Given the description of an element on the screen output the (x, y) to click on. 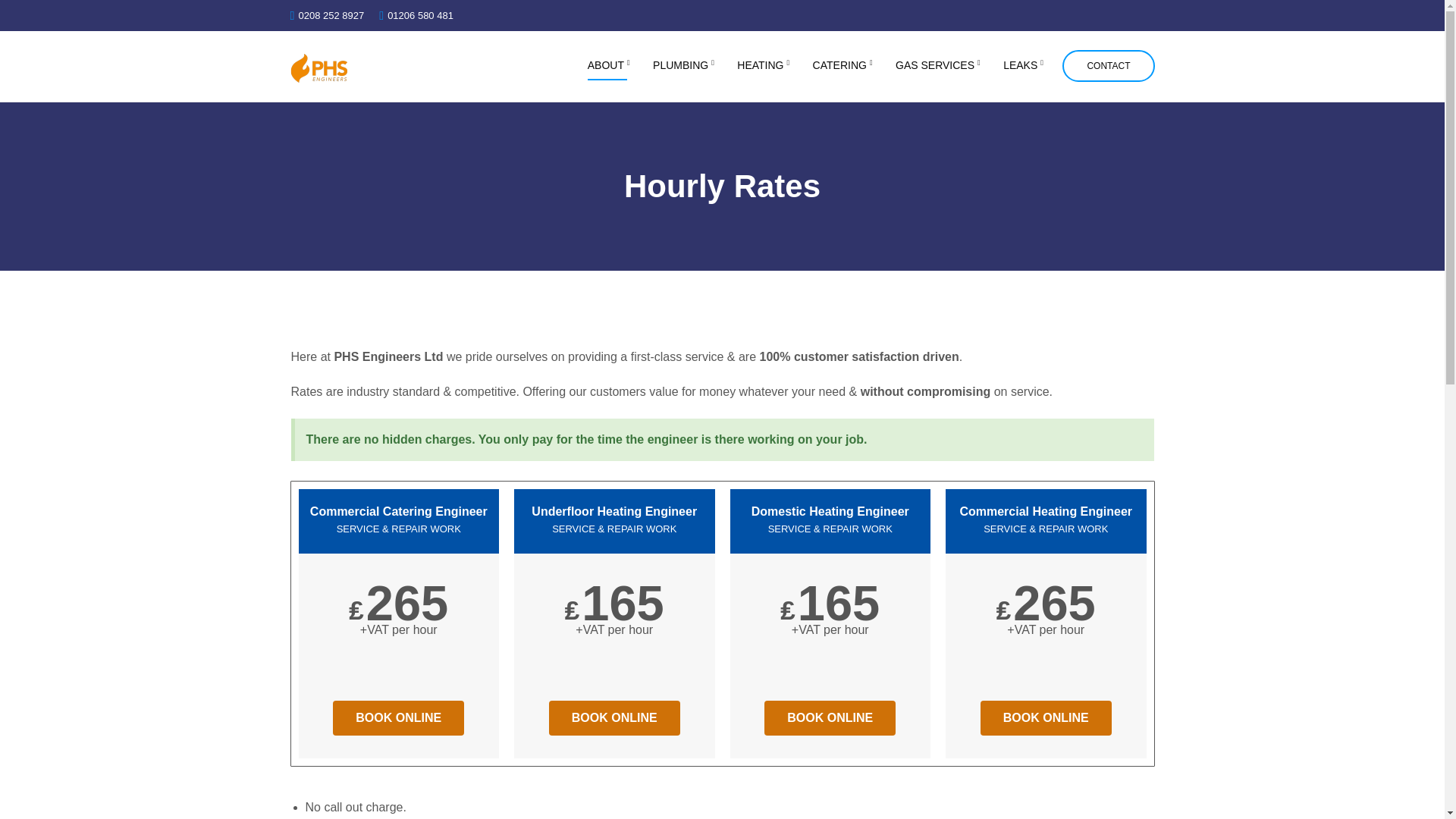
PLUMBING (681, 65)
HEATING (761, 65)
About PHS (607, 65)
CATERING (840, 65)
ABOUT (607, 65)
01206 580 481 (419, 15)
0208 252 8927 (331, 15)
